Given the description of an element on the screen output the (x, y) to click on. 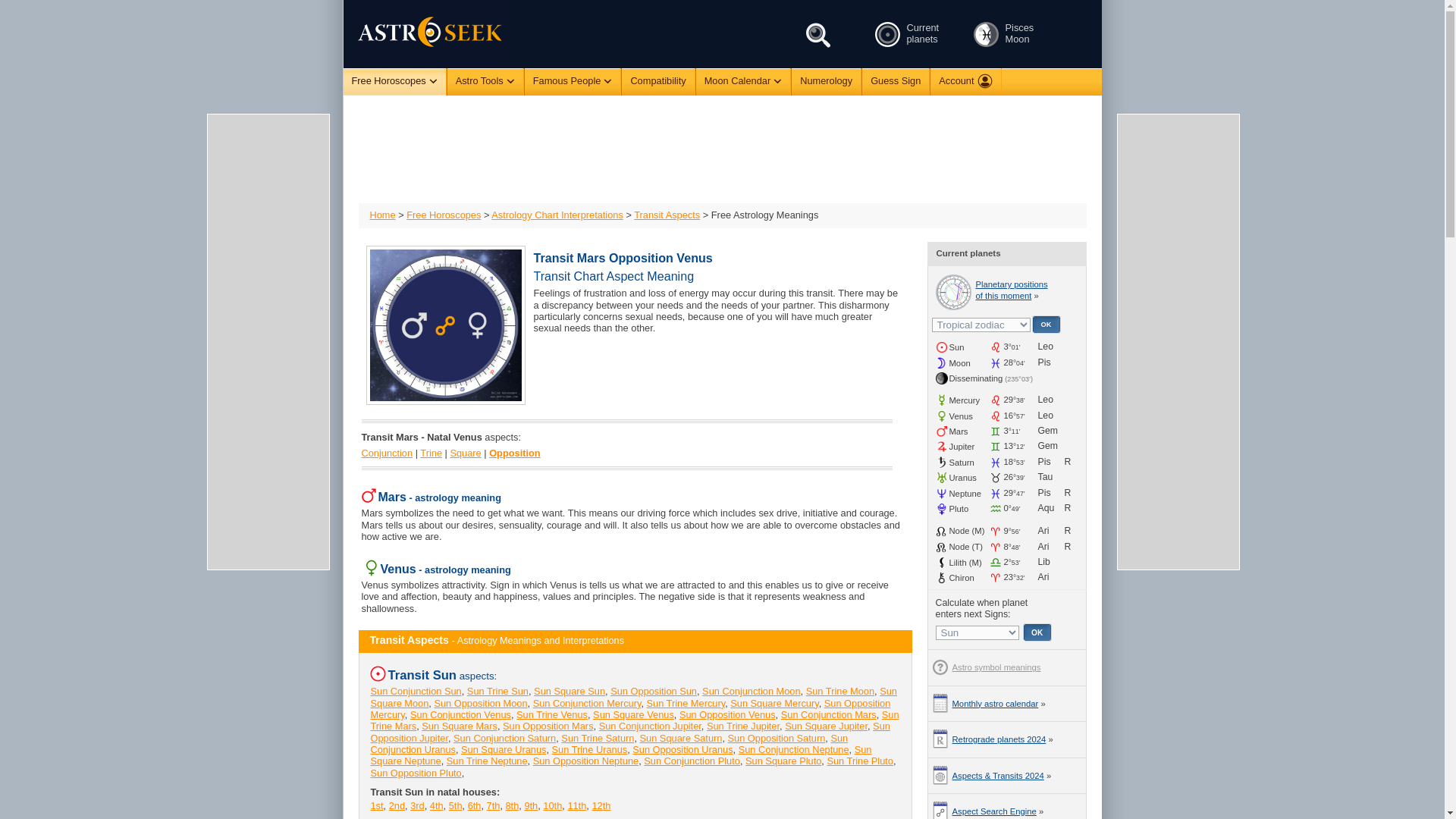
OK (1037, 632)
Search (818, 34)
Moon Lunar calendar 2024 (985, 34)
Astro Tools (484, 81)
Current Planets, Astrology Transits, Chart of this moment (886, 34)
Advertisement (721, 148)
Homepage - Astro-Seek.com (418, 33)
Free Horoscopes (393, 81)
Famous People (572, 81)
Moon Calendar (742, 81)
Compatibility (657, 81)
OK (1044, 324)
